Given the description of an element on the screen output the (x, y) to click on. 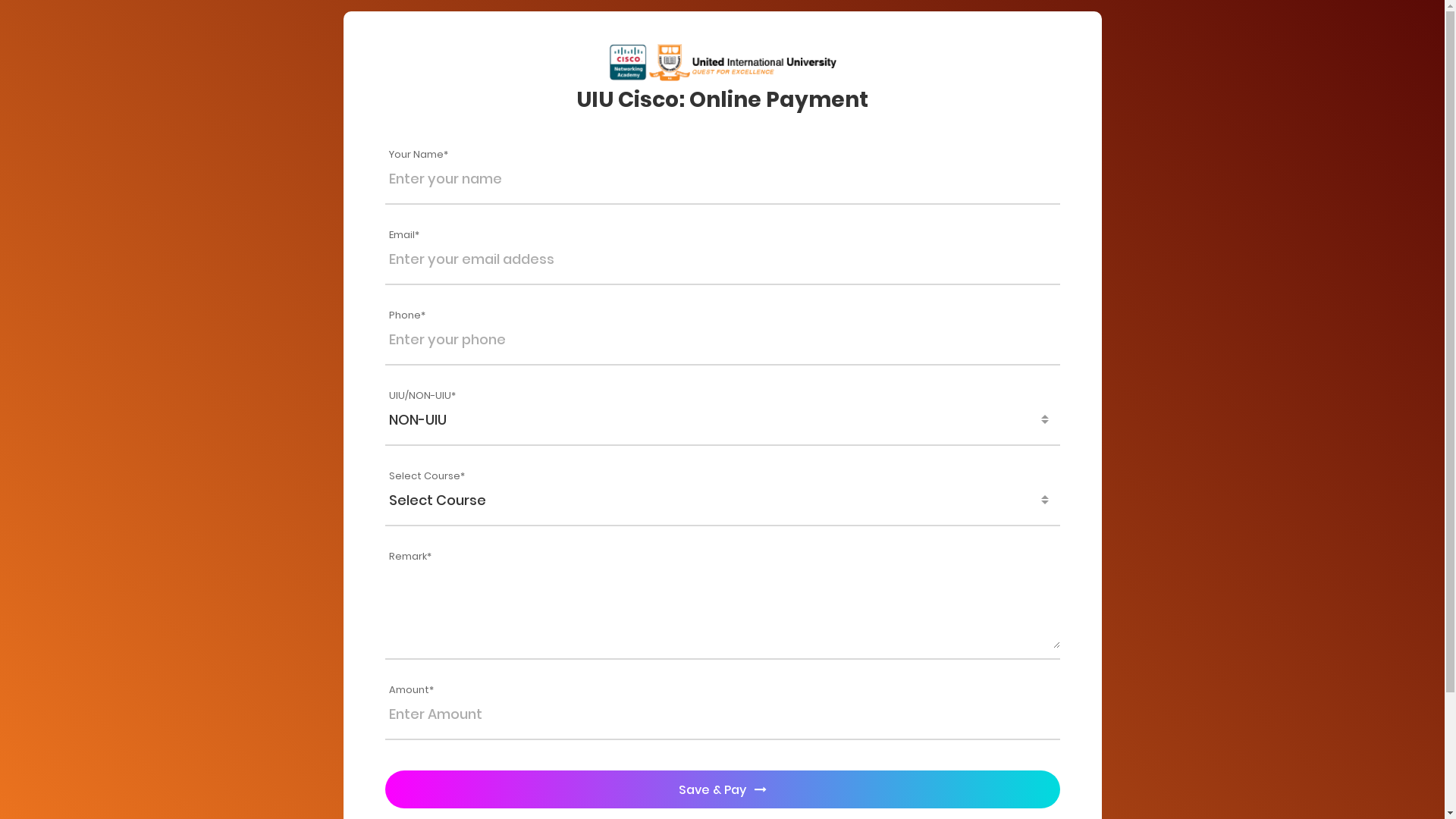
Save & Pay Element type: text (722, 789)
